Given the description of an element on the screen output the (x, y) to click on. 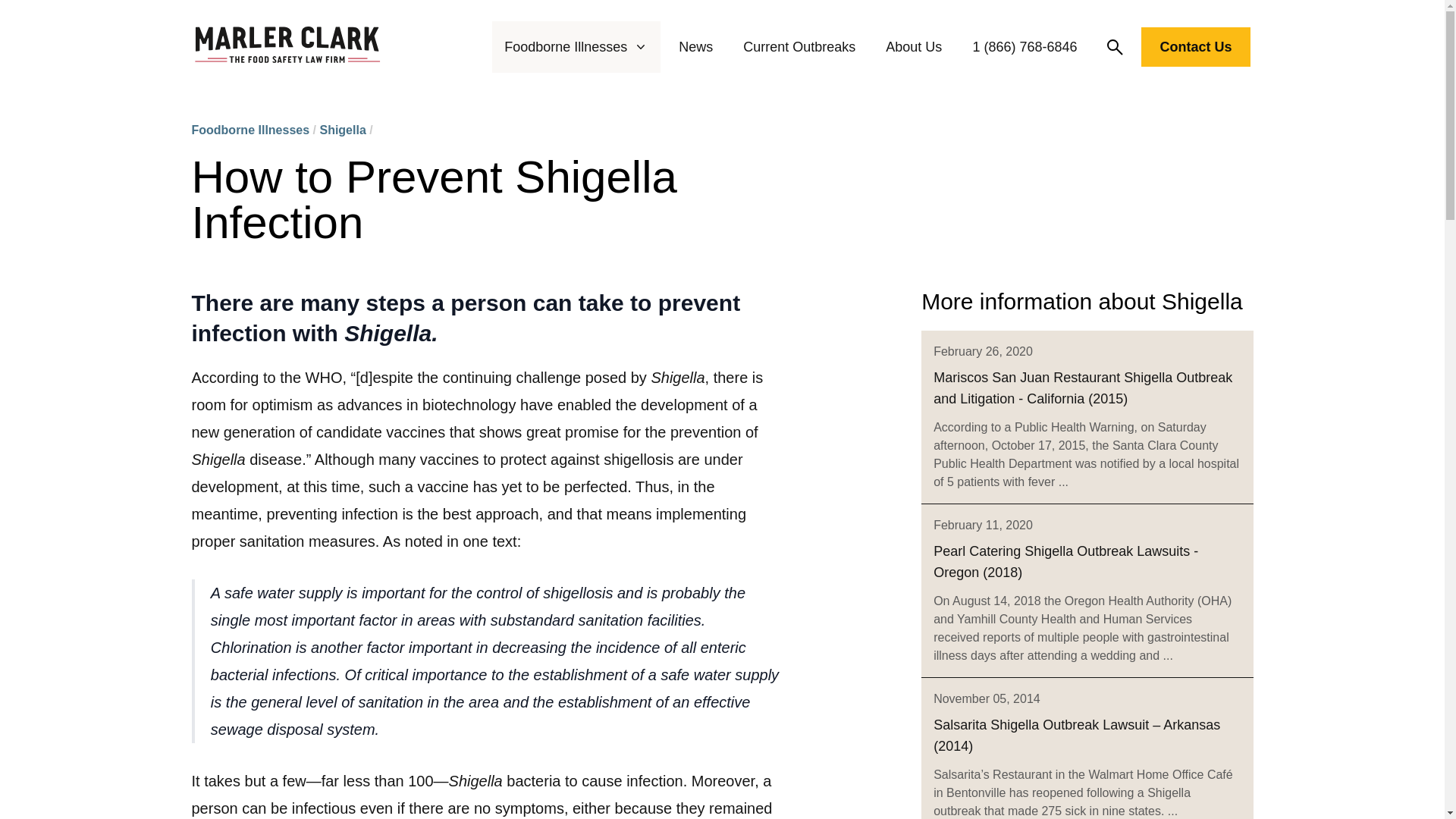
Shigella (341, 129)
News (695, 46)
Marler Clark (286, 46)
About Us (913, 46)
Foodborne Illnesses (249, 129)
Contact Us (1195, 46)
Contact Us (1195, 49)
Current Outbreaks (799, 46)
Foodborne Illnesses (576, 46)
